Given the description of an element on the screen output the (x, y) to click on. 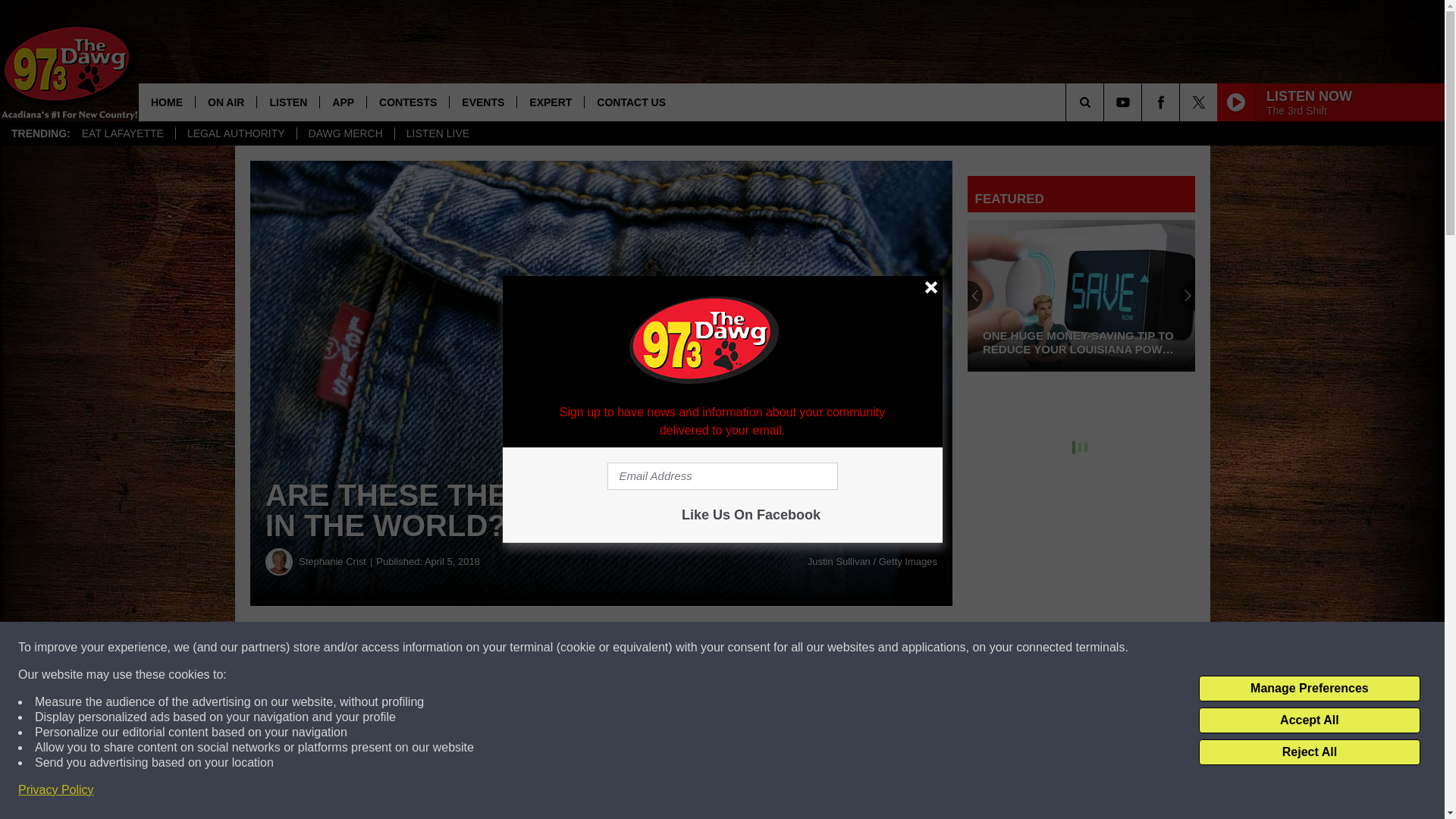
EAT LAFAYETTE (121, 133)
Share on Facebook (460, 647)
EXPERT (549, 102)
Reject All (1309, 751)
LISTEN (287, 102)
HOME (166, 102)
Email Address (722, 475)
SEARCH (1106, 102)
EVENTS (482, 102)
Manage Preferences (1309, 688)
DAWG MERCH (345, 133)
CONTESTS (407, 102)
Share on Twitter (741, 647)
ON AIR (225, 102)
LISTEN LIVE (437, 133)
